Given the description of an element on the screen output the (x, y) to click on. 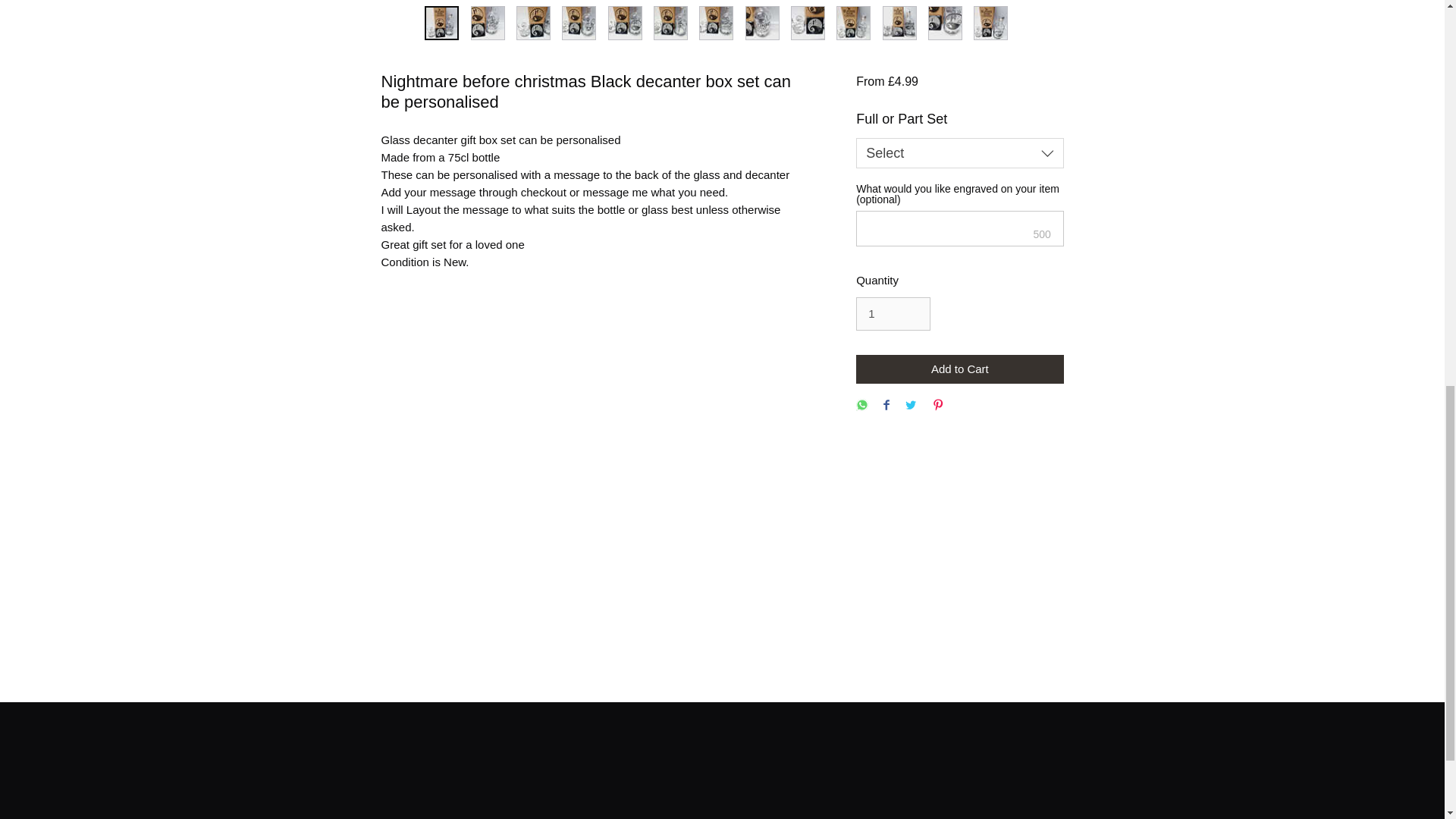
1 (893, 313)
